Given the description of an element on the screen output the (x, y) to click on. 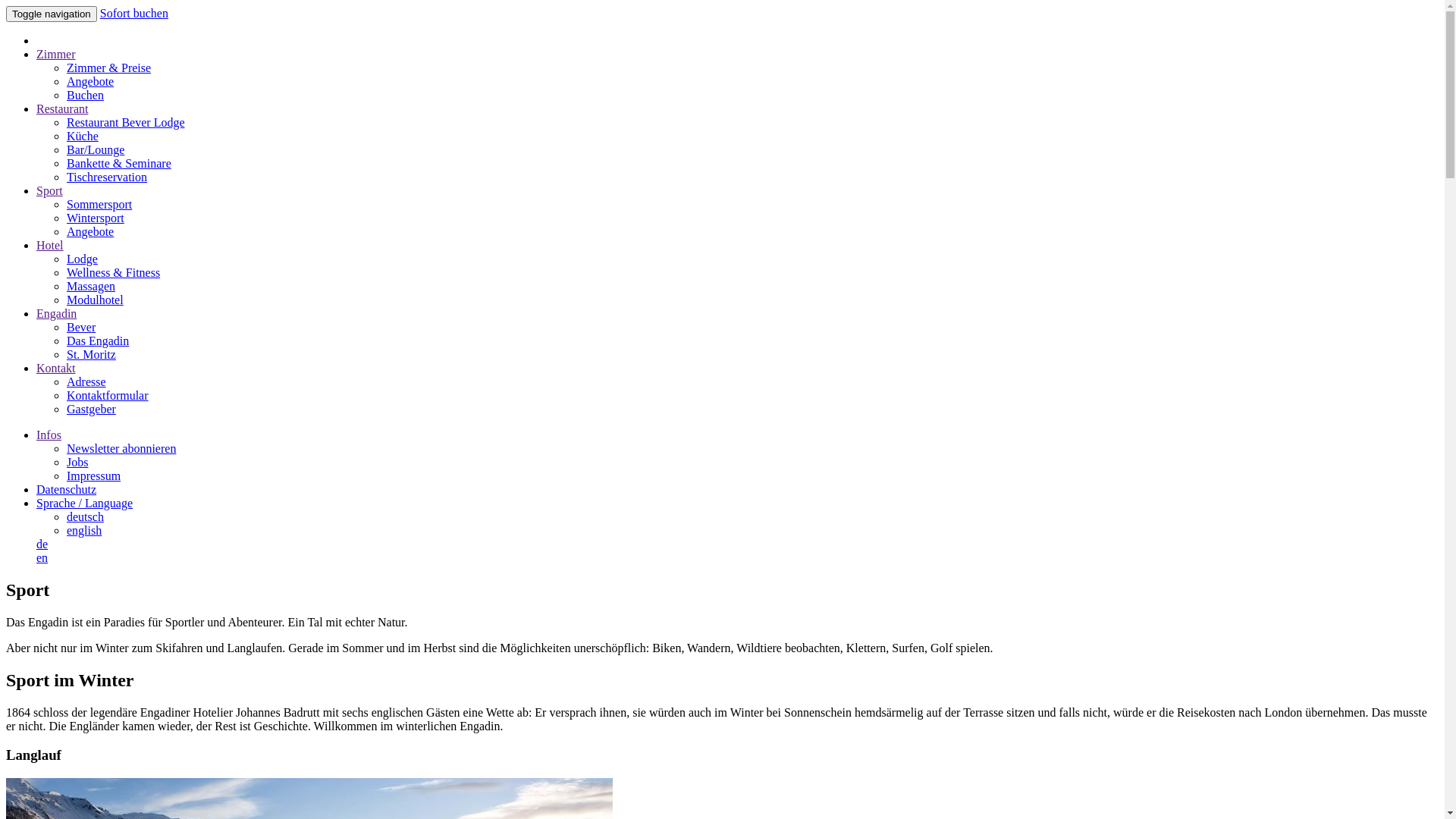
Sport Element type: text (49, 190)
deutsch Element type: text (84, 516)
english Element type: text (83, 530)
Angebote Element type: text (89, 231)
Infos Element type: text (48, 434)
Datenschutz Element type: text (66, 489)
Bar/Lounge Element type: text (95, 149)
Newsletter abonnieren Element type: text (120, 448)
Bankette & Seminare Element type: text (118, 162)
Tischreservation Element type: text (106, 176)
en Element type: text (41, 557)
Sprache / Language Element type: text (84, 502)
Hotel Element type: text (49, 244)
Massagen Element type: text (90, 285)
Modulhotel Element type: text (94, 299)
Zimmer Element type: text (55, 53)
Adresse Element type: text (86, 381)
Toggle navigation Element type: text (51, 13)
Bever Element type: text (80, 326)
Kontakt Element type: text (55, 367)
Wellness & Fitness Element type: text (113, 272)
Jobs Element type: text (76, 461)
Restaurant Element type: text (61, 108)
Sofort buchen Element type: text (134, 12)
de Element type: text (41, 543)
Angebote Element type: text (89, 81)
Restaurant Bever Lodge Element type: text (125, 122)
Gastgeber Element type: text (91, 408)
Lodge Element type: text (81, 258)
Buchen Element type: text (84, 94)
Kontaktformular Element type: text (107, 395)
Das Engadin Element type: text (97, 340)
Engadin Element type: text (56, 313)
Impressum Element type: text (93, 475)
St. Moritz Element type: text (91, 354)
Zimmer & Preise Element type: text (108, 67)
Wintersport Element type: text (95, 217)
Sommersport Element type: text (98, 203)
